Given the description of an element on the screen output the (x, y) to click on. 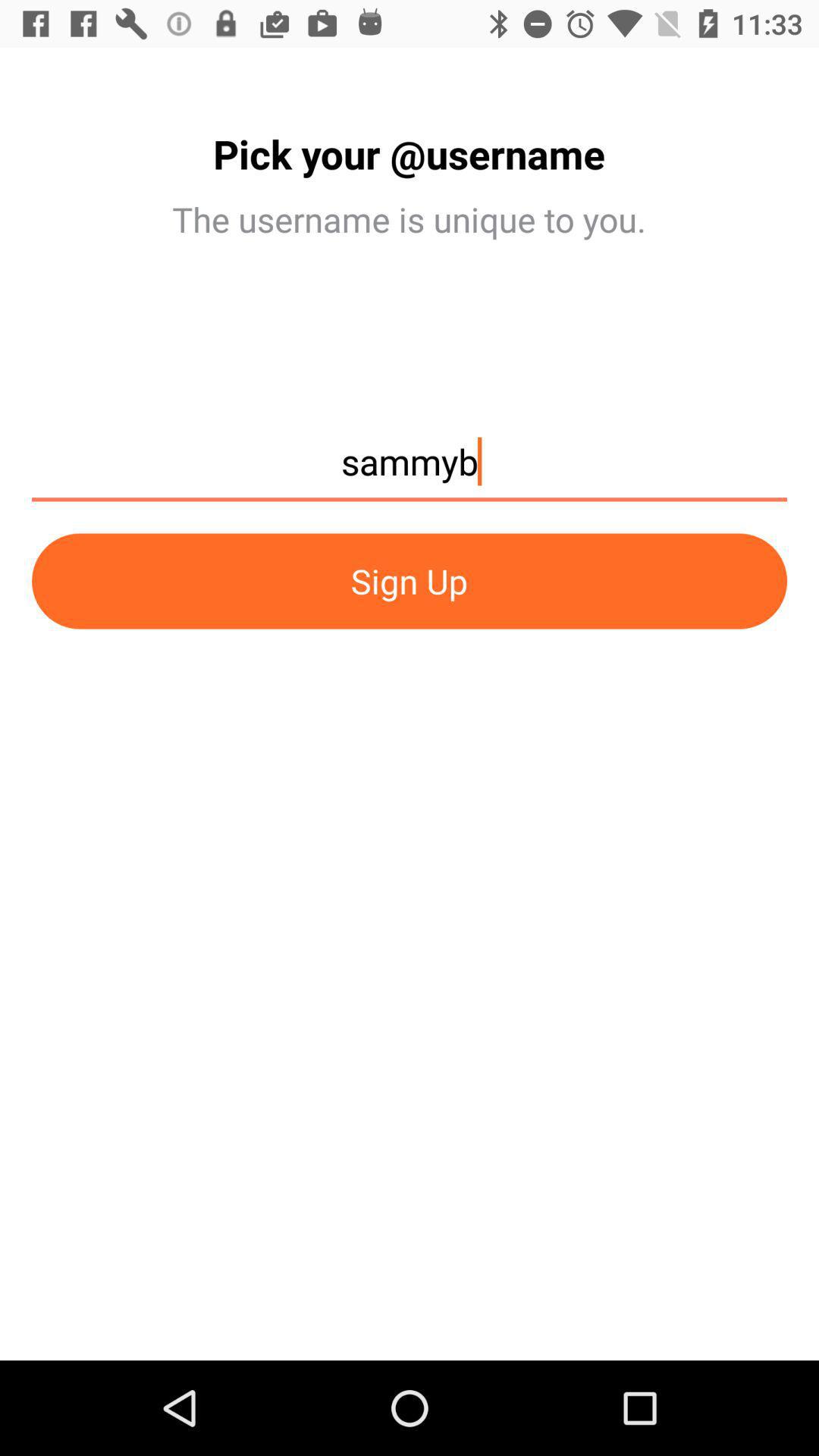
tap icon above the sign up icon (409, 469)
